Given the description of an element on the screen output the (x, y) to click on. 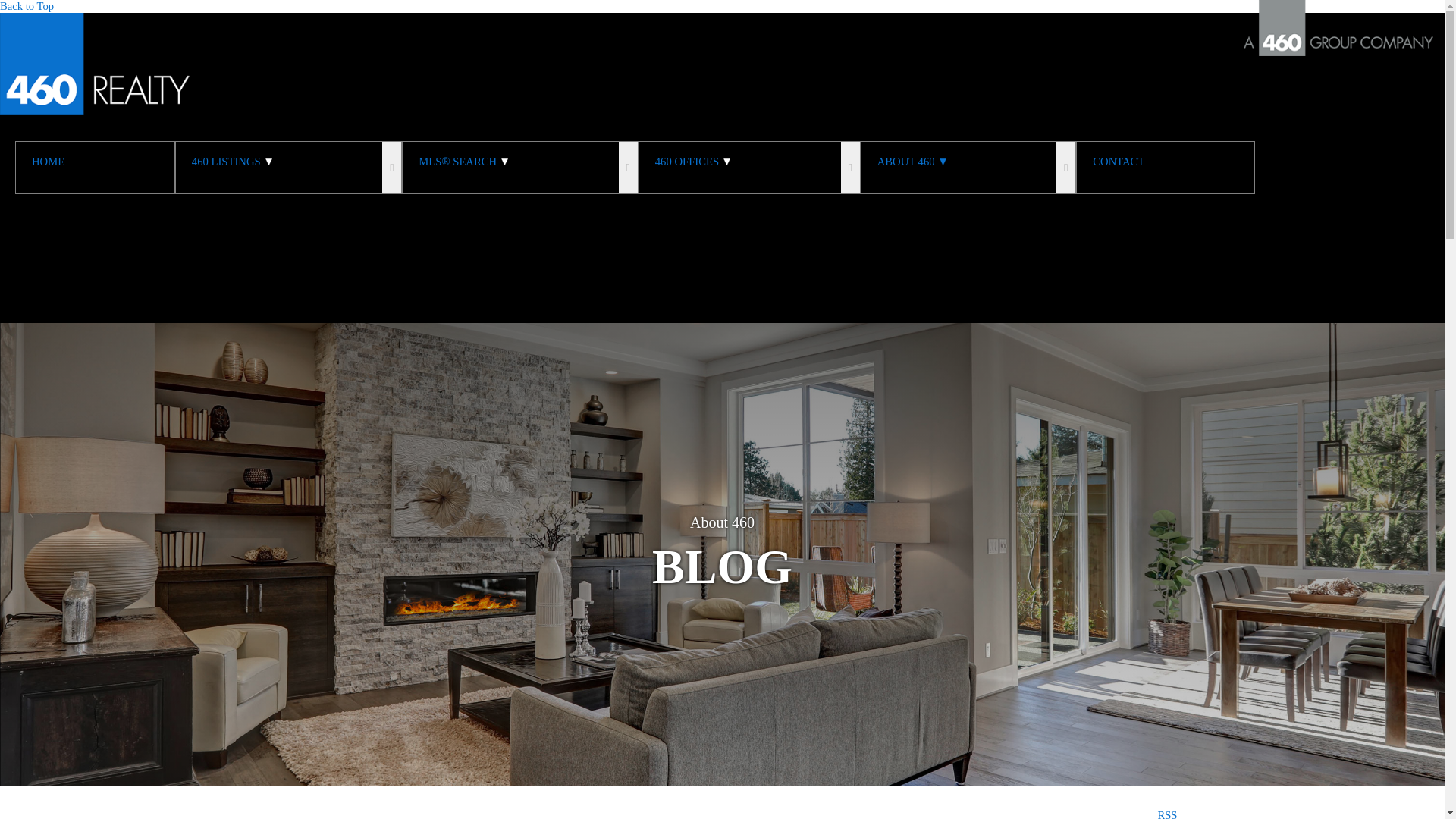
Back to Top (26, 6)
ABOUT 460 (912, 167)
HOME (95, 167)
460 OFFICES (692, 167)
460 LISTINGS (231, 167)
